Given the description of an element on the screen output the (x, y) to click on. 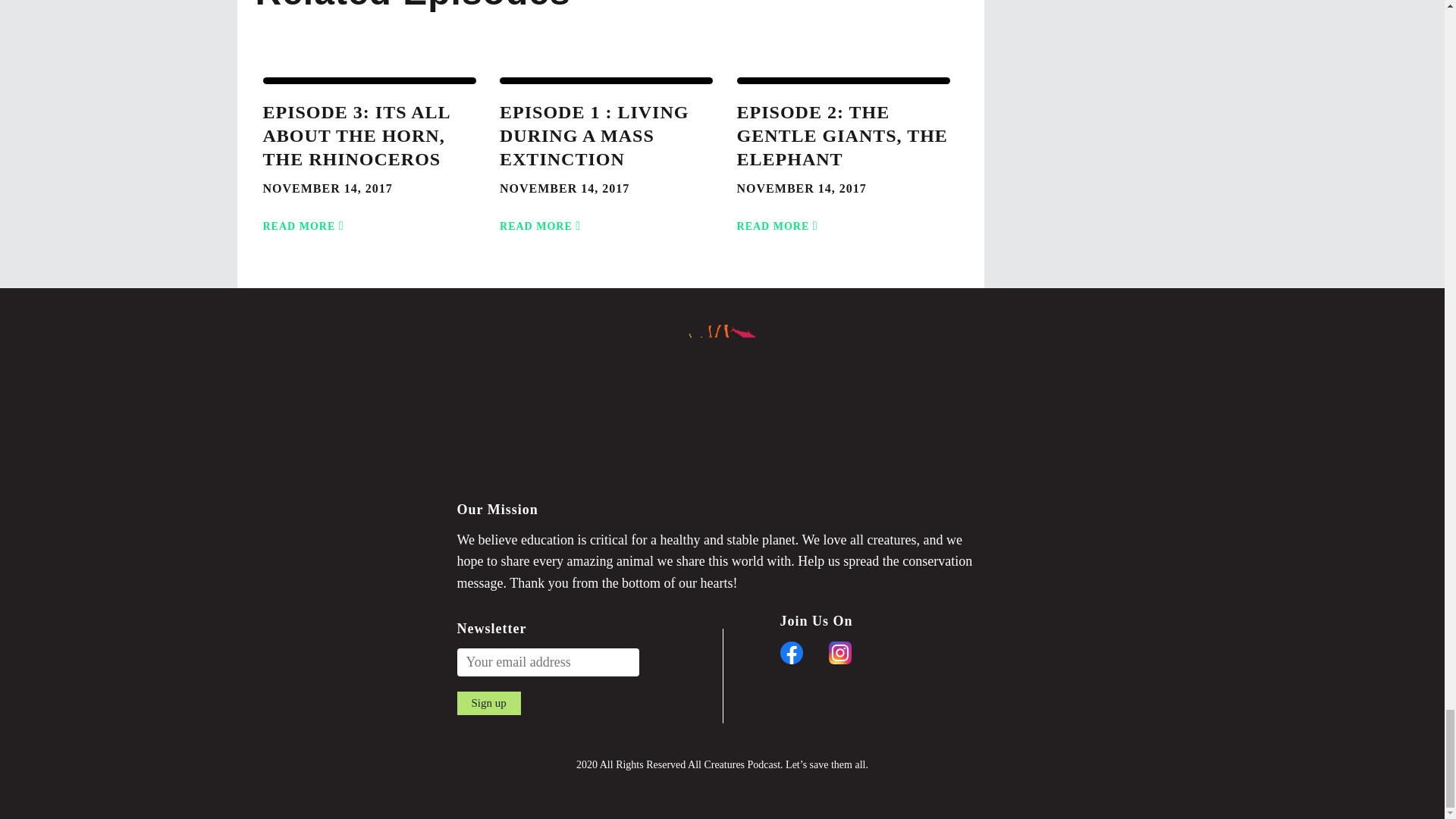
All Creatures Podcast (843, 135)
READ MORE (722, 406)
READ MORE (305, 217)
Sign up (542, 217)
Sign up (488, 702)
READ MORE (488, 702)
